Given the description of an element on the screen output the (x, y) to click on. 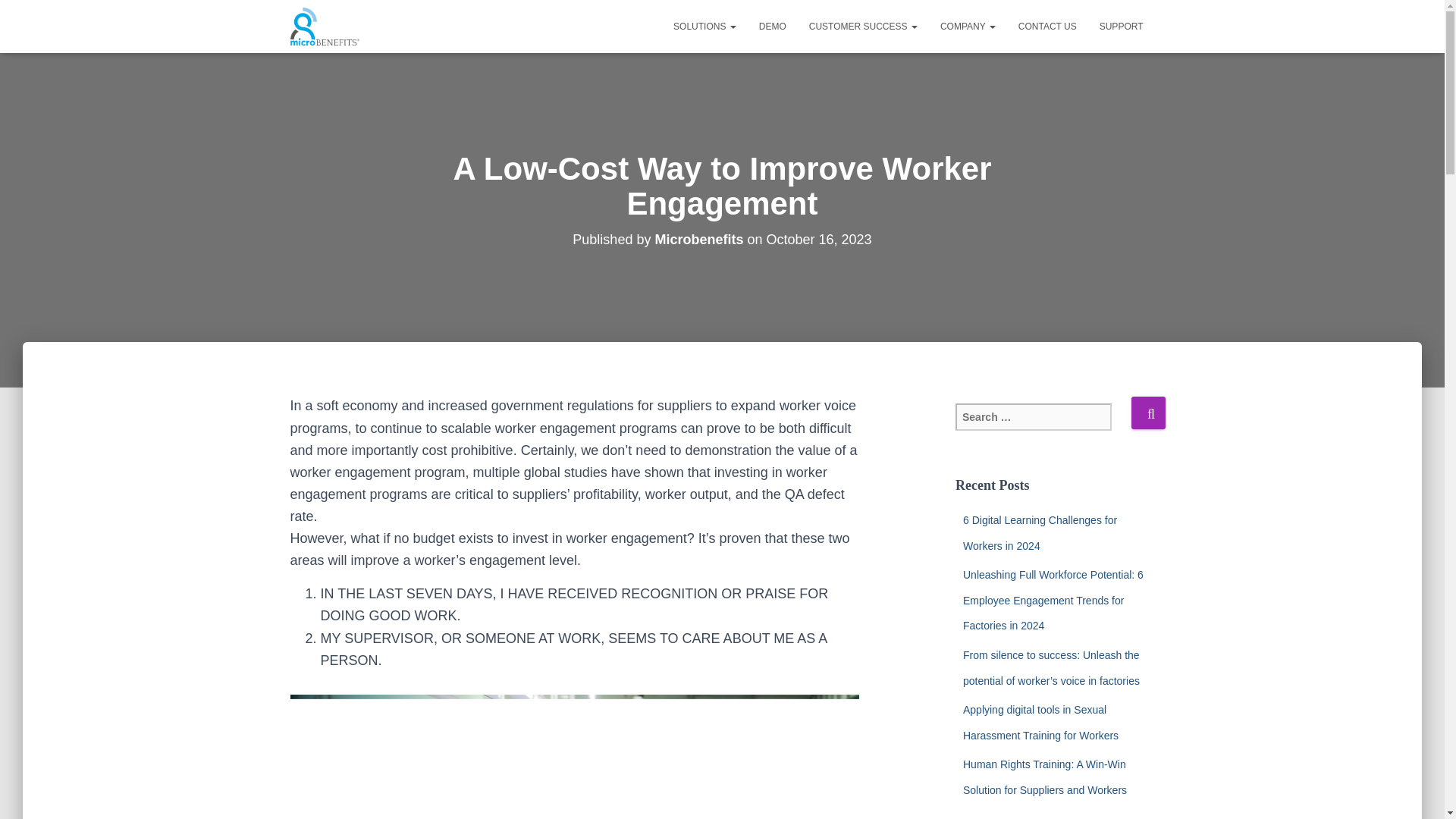
DEMO (772, 26)
CUSTOMER SUCCESS (862, 26)
COMPANY (967, 26)
CONTACT US (1047, 26)
6 Digital Learning Challenges for Workers in 2024 (1039, 533)
MicroBenefits Blog (325, 26)
Customer Success (862, 26)
SOLUTIONS (705, 26)
Search (1148, 412)
DEMO (772, 26)
